Given the description of an element on the screen output the (x, y) to click on. 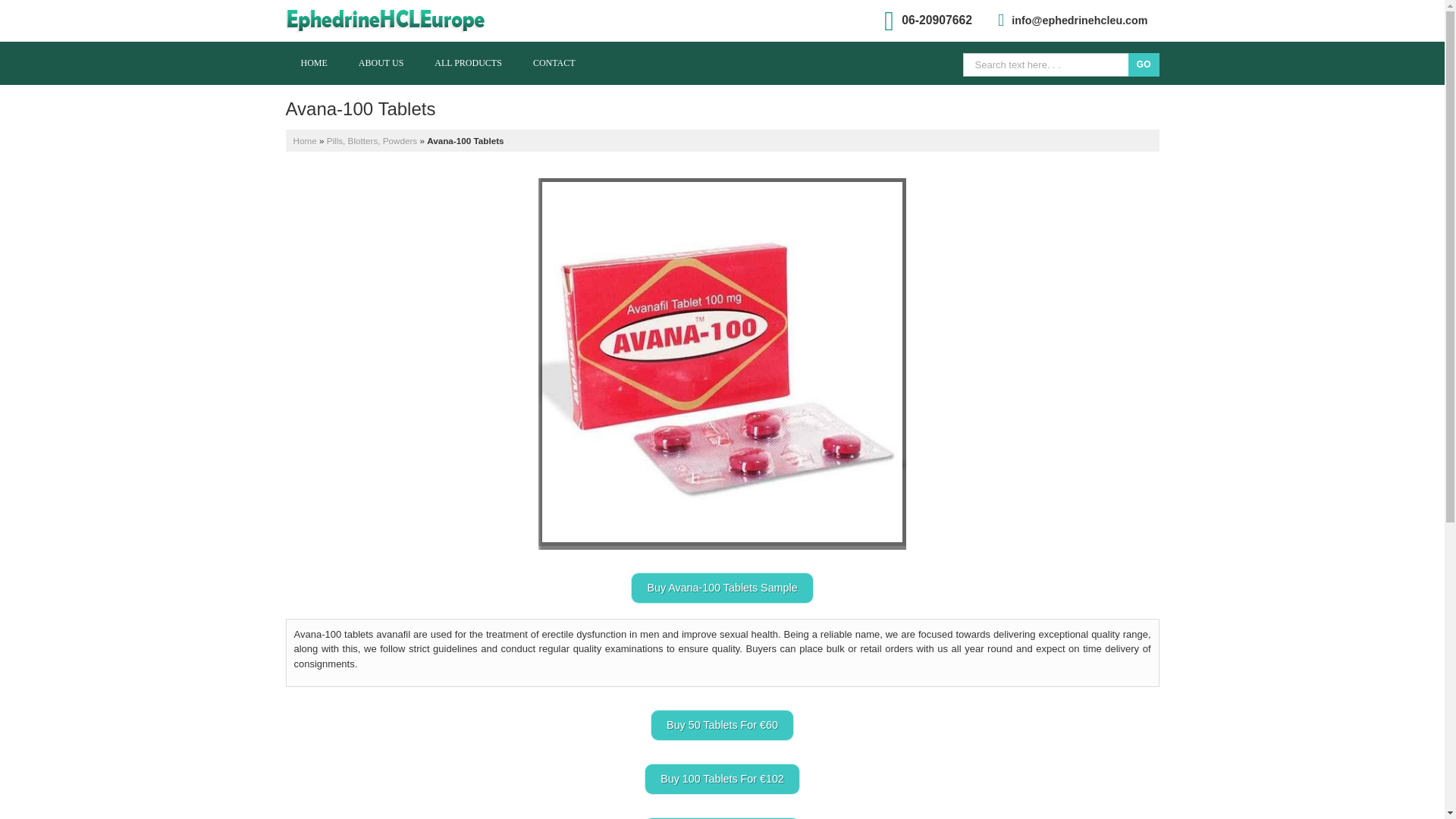
ALL PRODUCTS (467, 62)
HOME (313, 62)
Home (303, 139)
Search text here. . . (1046, 64)
Pills, Blotters, Powders (371, 139)
GO (1143, 64)
Ephedrine Supplier Europe (397, 20)
CONTACT (554, 62)
GO (1143, 64)
Buy Avana-100 Tablets Sample (721, 587)
ABOUT US (381, 62)
